Given the description of an element on the screen output the (x, y) to click on. 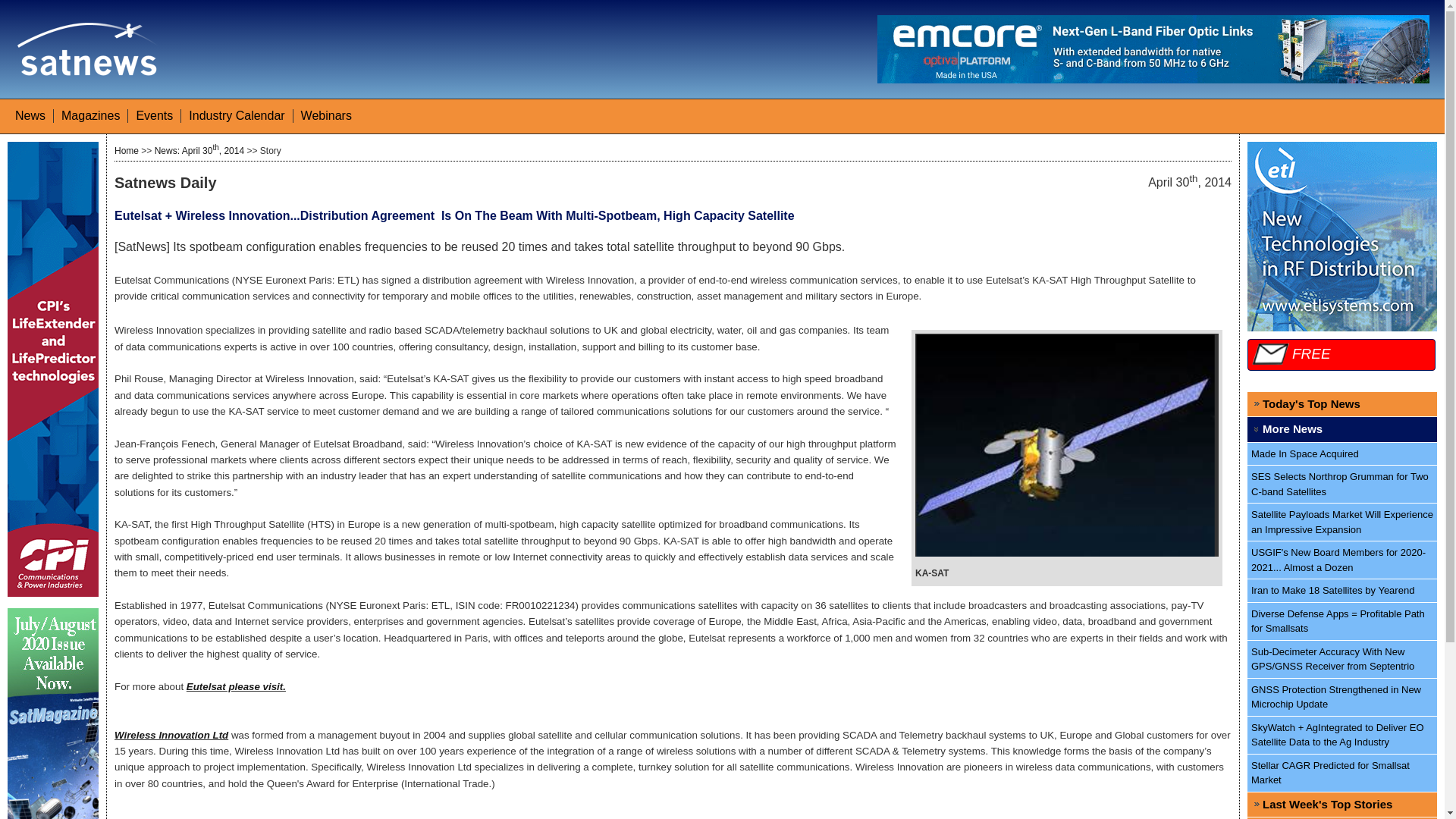
Magazines (90, 115)
Events (154, 115)
News (29, 115)
News: April 30th, 2014 (199, 150)
Webinars (326, 115)
Wireless Innovation Ltd (171, 735)
Home (126, 150)
SES Selects Northrop Grumman for Two C-band Satellites (1342, 484)
Made In Space Acquired (1342, 454)
Industry Calendar (236, 115)
Eutelsat please visit. (235, 686)
